Given the description of an element on the screen output the (x, y) to click on. 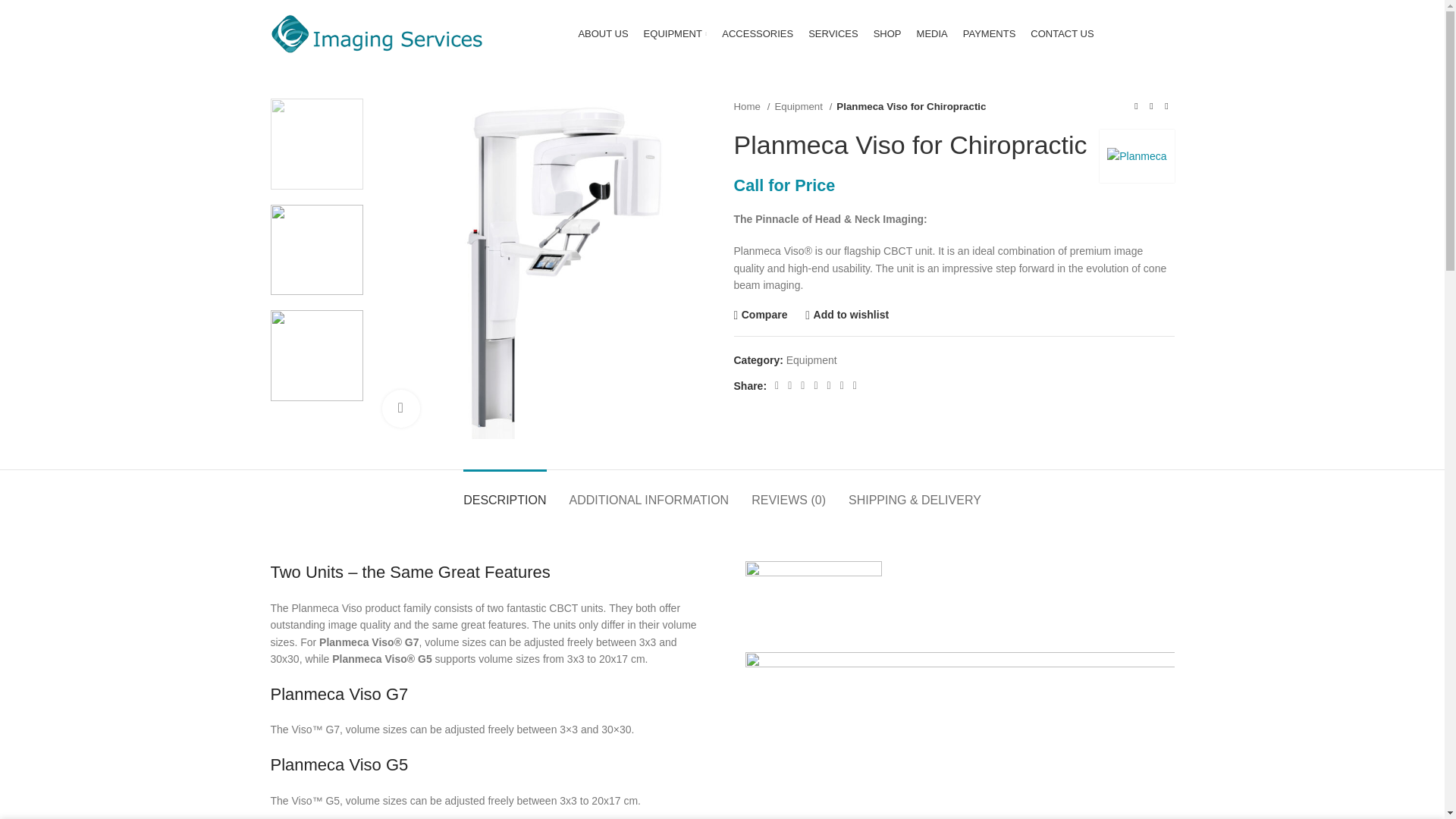
Add to wishlist (846, 315)
SHOP (887, 33)
Planmeca (1136, 156)
PAYMENTS (989, 33)
Equipment (802, 106)
CONTACT US (1061, 33)
ABOUT US (602, 33)
Home (751, 106)
ACCESSORIES (757, 33)
